Given the description of an element on the screen output the (x, y) to click on. 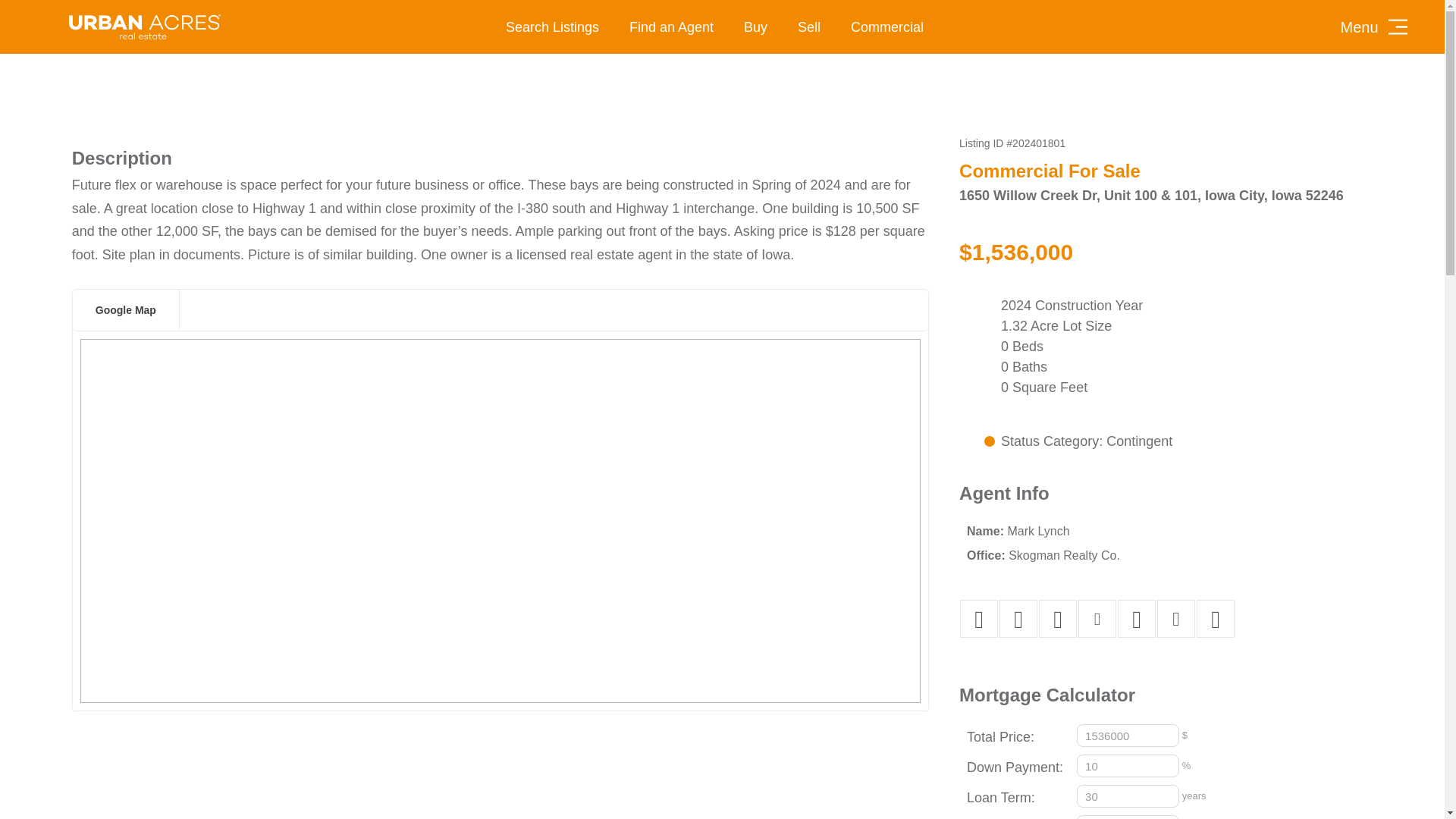
Menu (1374, 26)
PDF (1057, 618)
Request a showing (1214, 618)
Share on Facebook (978, 618)
10 (1128, 765)
Sell (809, 26)
Buy (756, 26)
Tweet (1018, 618)
Watch changes on this property (1175, 618)
Add to favorites (1096, 618)
Find an Agent (671, 26)
30 (1128, 795)
1536000 (1128, 734)
Google Map (125, 309)
Commercial (887, 26)
